Given the description of an element on the screen output the (x, y) to click on. 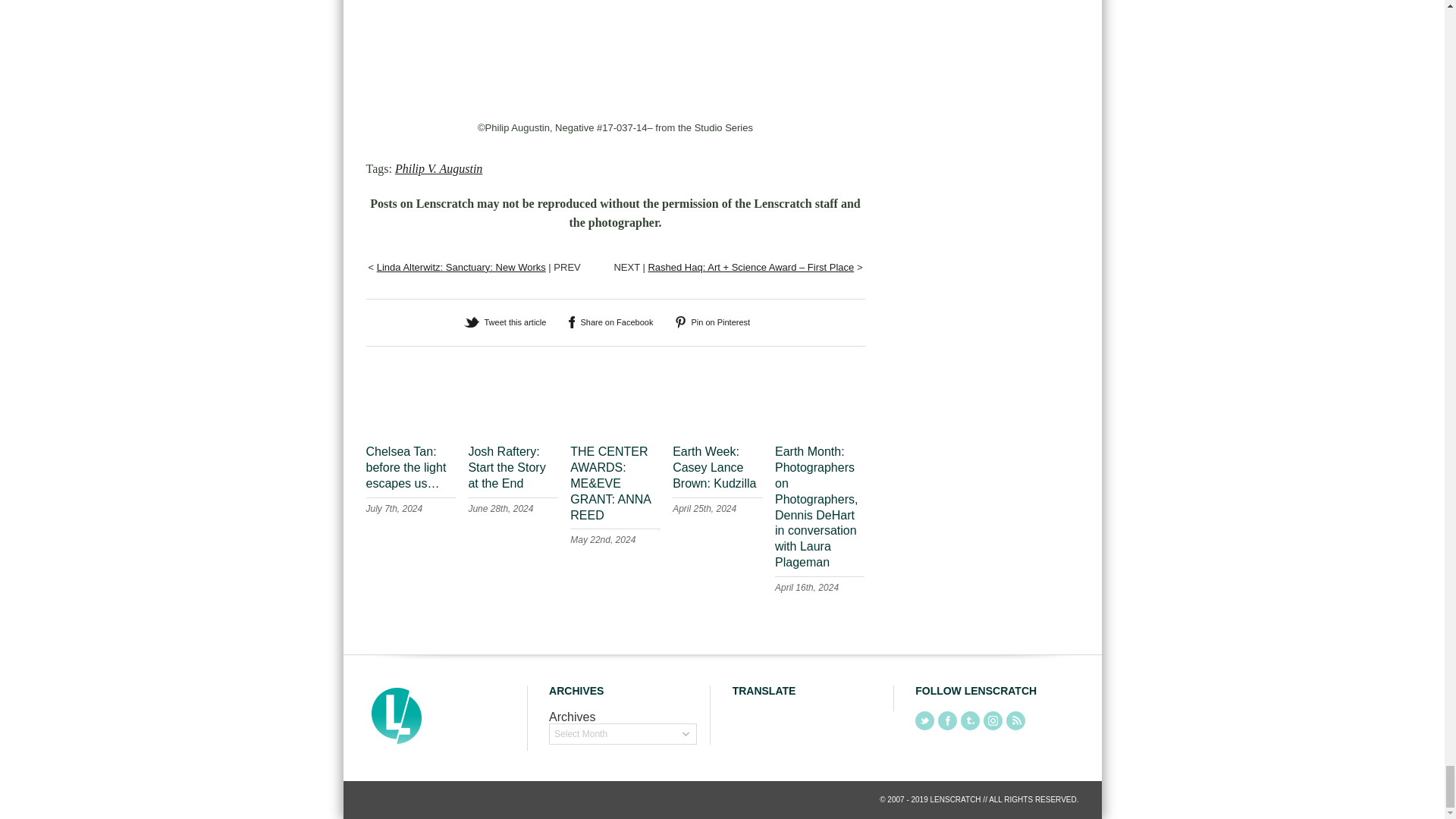
Earth Week: Casey Lance Brown: Kudzilla (713, 467)
Josh Raftery: Start the Story at the End (505, 467)
